Given the description of an element on the screen output the (x, y) to click on. 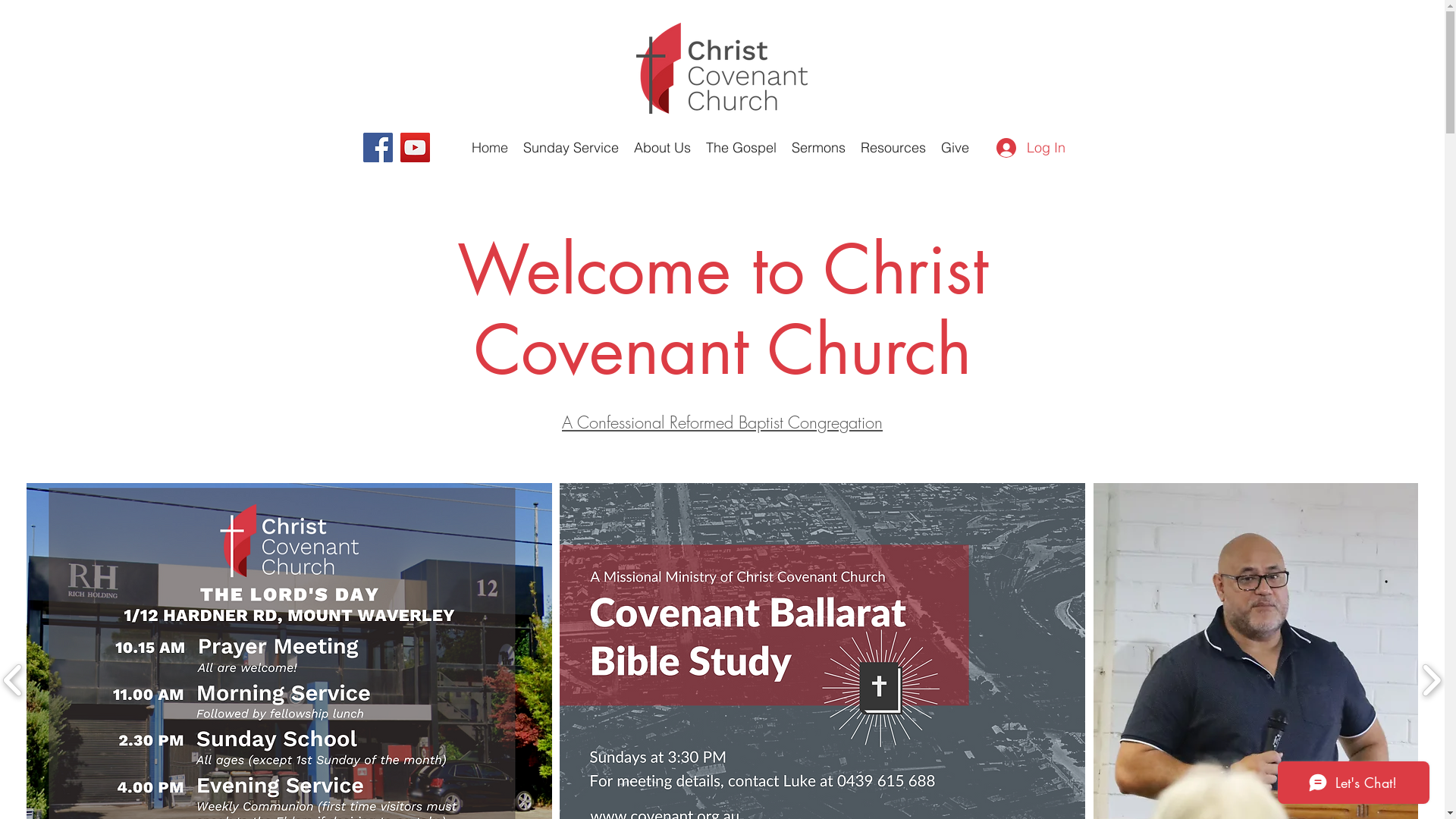
Sunday Service Element type: text (570, 147)
A Confessional Reformed Baptist Congregation Element type: text (721, 422)
About Us Element type: text (662, 147)
Give Element type: text (954, 147)
The Gospel Element type: text (741, 147)
Home Element type: text (489, 147)
Log In Element type: text (1030, 147)
Resources Element type: text (893, 147)
Sermons Element type: text (818, 147)
